Given the description of an element on the screen output the (x, y) to click on. 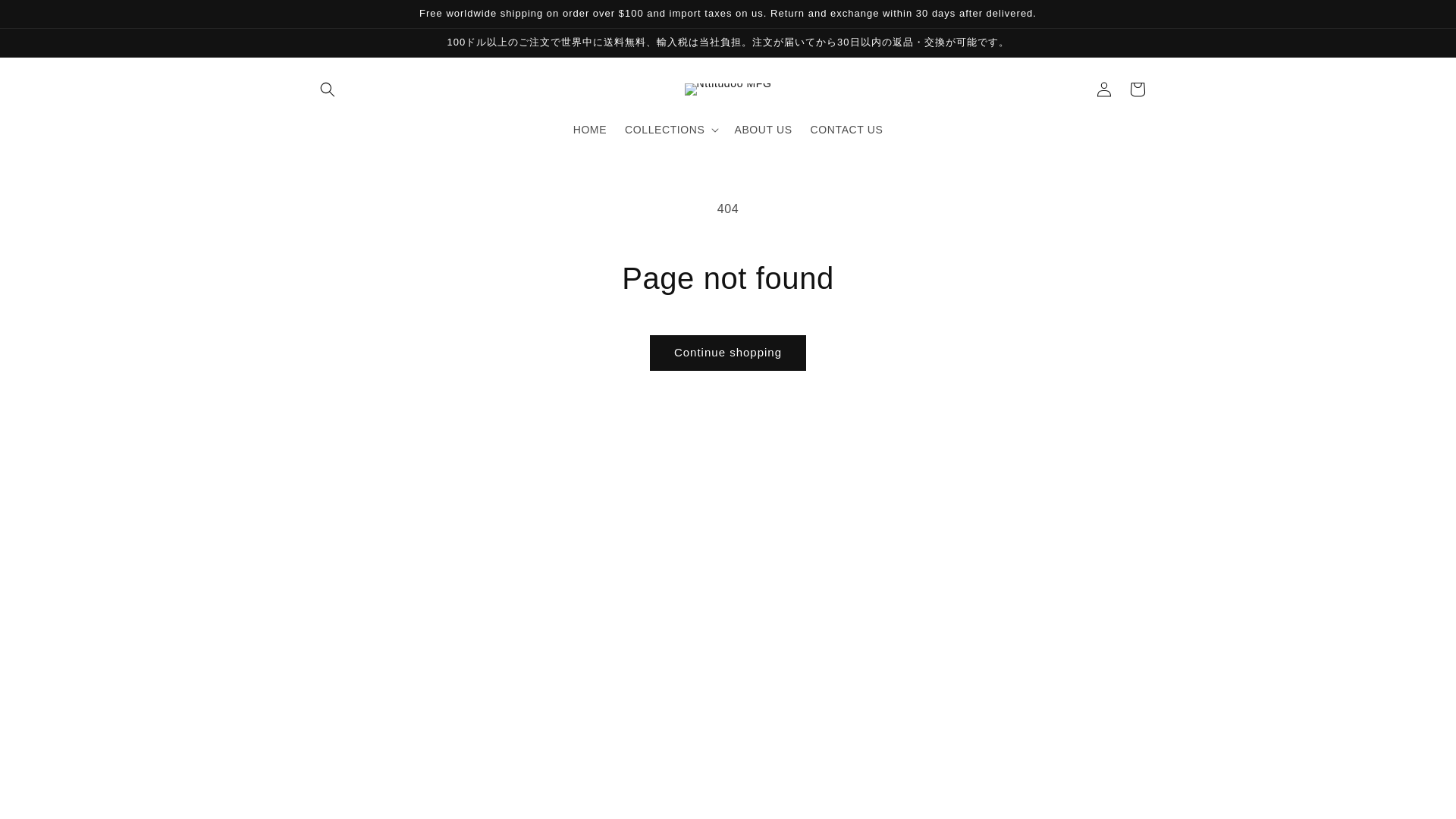
Continue shopping (727, 352)
ABOUT US (762, 129)
Skip to content (45, 16)
Cart (1137, 89)
Log in (1104, 89)
CONTACT US (847, 129)
HOME (589, 129)
